Given the description of an element on the screen output the (x, y) to click on. 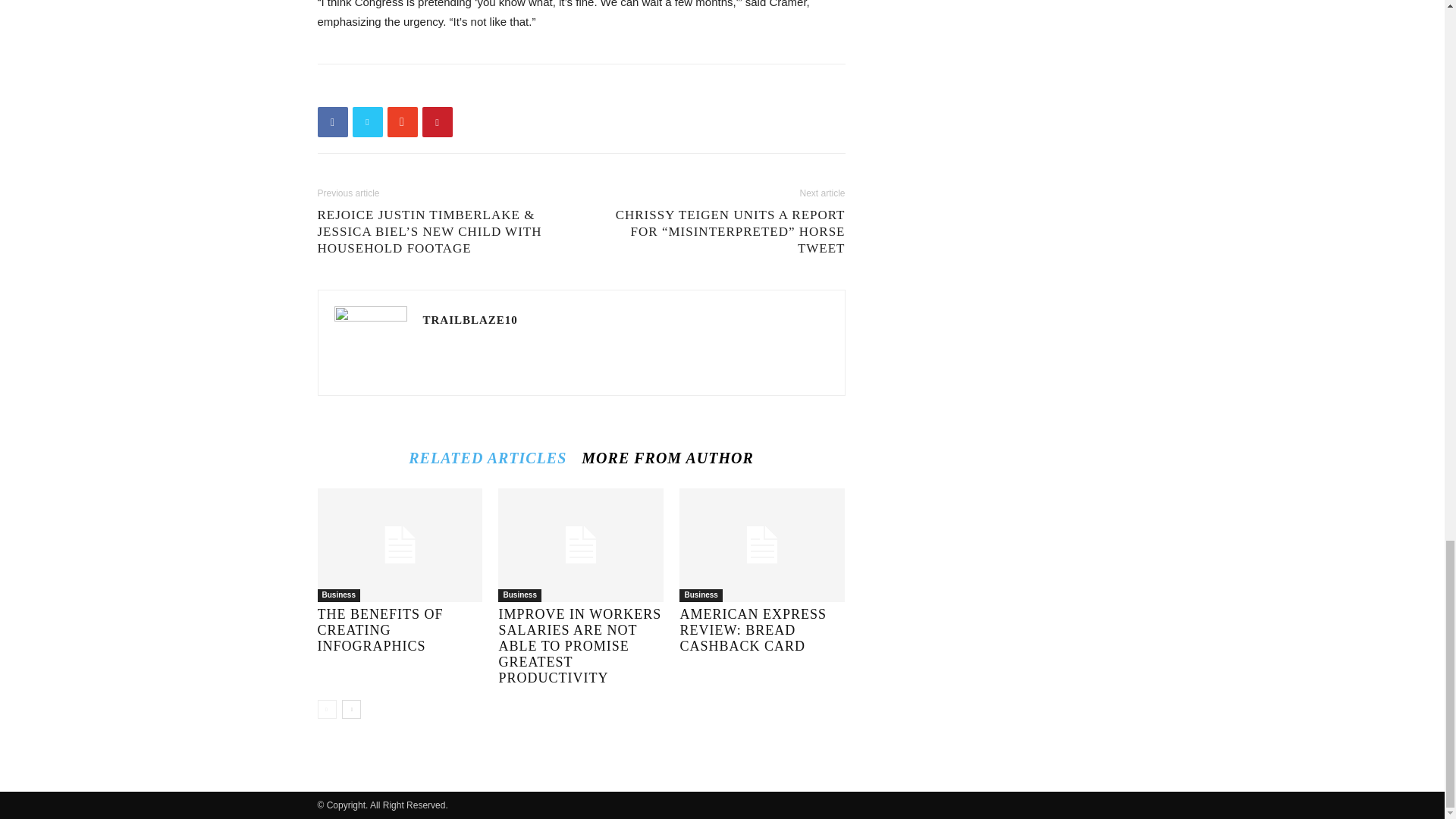
American Express Review: Bread Cashback card (761, 544)
The Benefits of Creating Infographics (379, 629)
American Express Review: Bread Cashback card (753, 629)
The Benefits of Creating Infographics (399, 544)
